Given the description of an element on the screen output the (x, y) to click on. 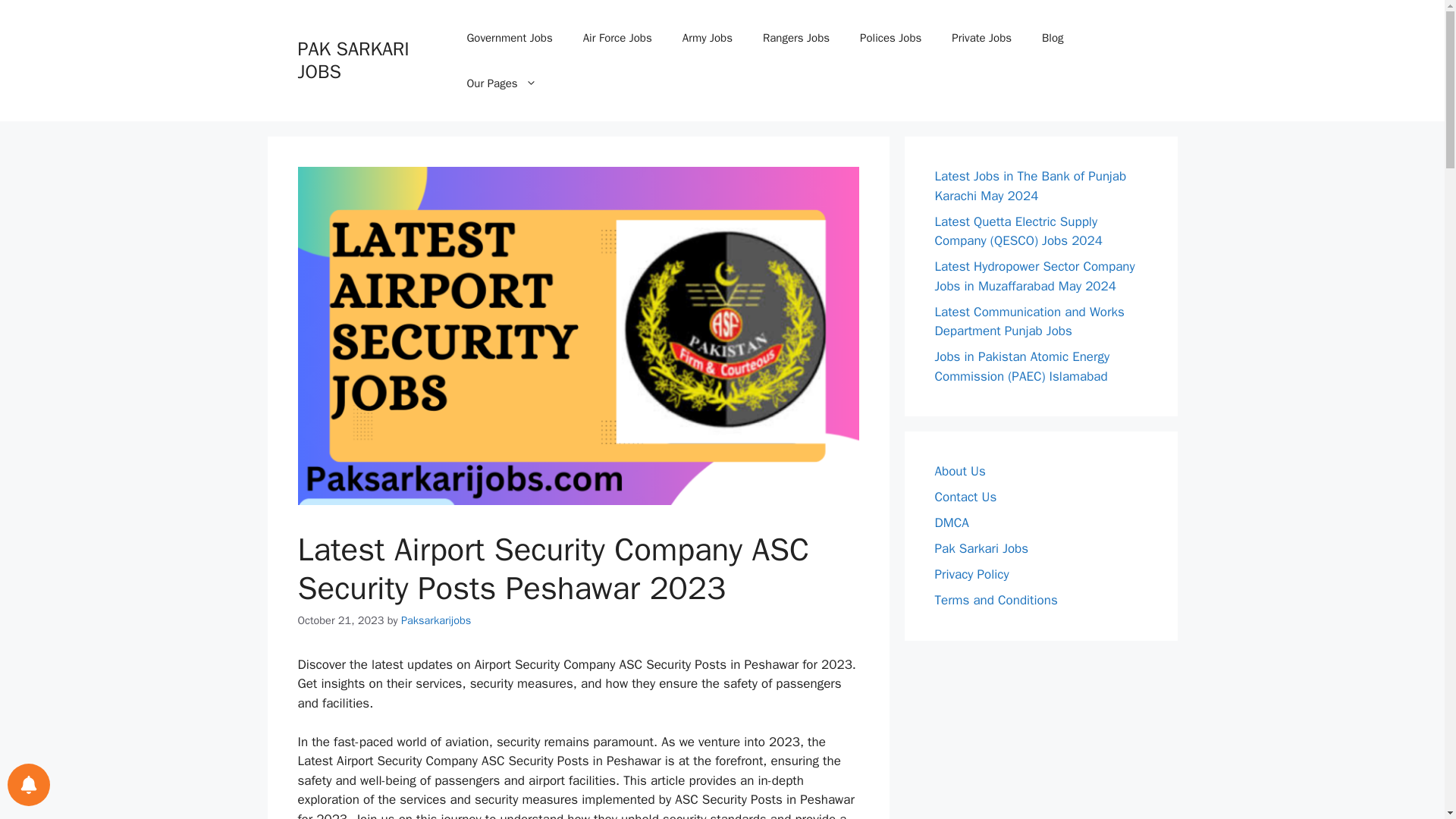
Latest Jobs in The Bank of Punjab Karachi May 2024 (1029, 185)
Army Jobs (707, 37)
About Us (959, 471)
Private Jobs (981, 37)
Our Pages (501, 83)
DMCA (951, 522)
Notifications preferences (28, 783)
Rangers Jobs (796, 37)
Privacy Policy (971, 574)
Paksarkarijobs (435, 620)
Blog (1052, 37)
Pak Sarkari Jobs (980, 548)
Government Jobs (509, 37)
Polices Jobs (890, 37)
Terms and Conditions (995, 600)
